Given the description of an element on the screen output the (x, y) to click on. 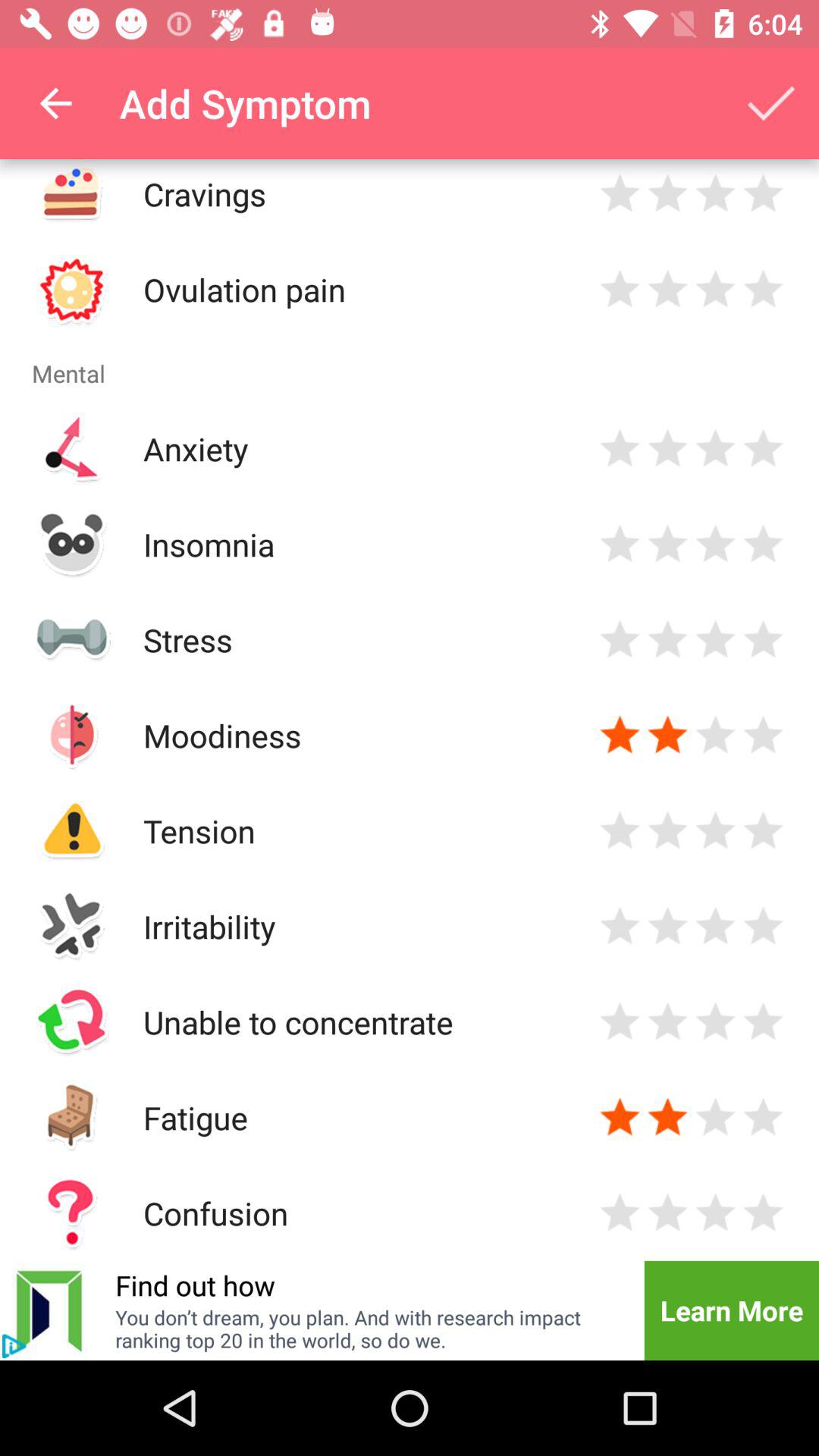
rate the max star option (763, 735)
